Given the description of an element on the screen output the (x, y) to click on. 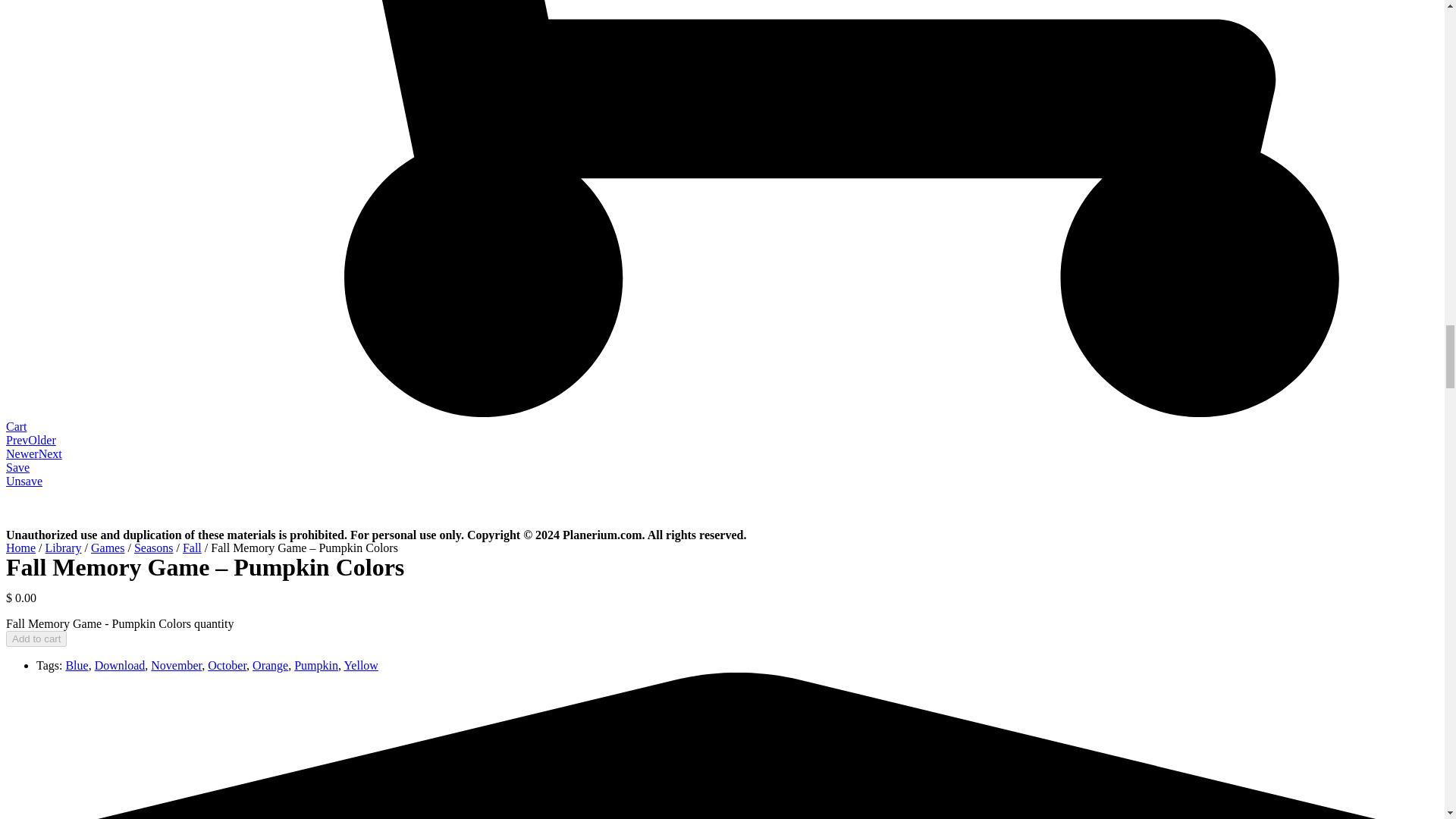
Library (63, 547)
Yellow (360, 665)
Add to cart (35, 638)
Save (17, 467)
Fall (192, 547)
Seasons (153, 547)
Games (106, 547)
Home (19, 547)
Unsave (23, 481)
PrevOlder (30, 440)
Orange (269, 665)
October (227, 665)
Download (119, 665)
November (176, 665)
Pumpkin (315, 665)
